Given the description of an element on the screen output the (x, y) to click on. 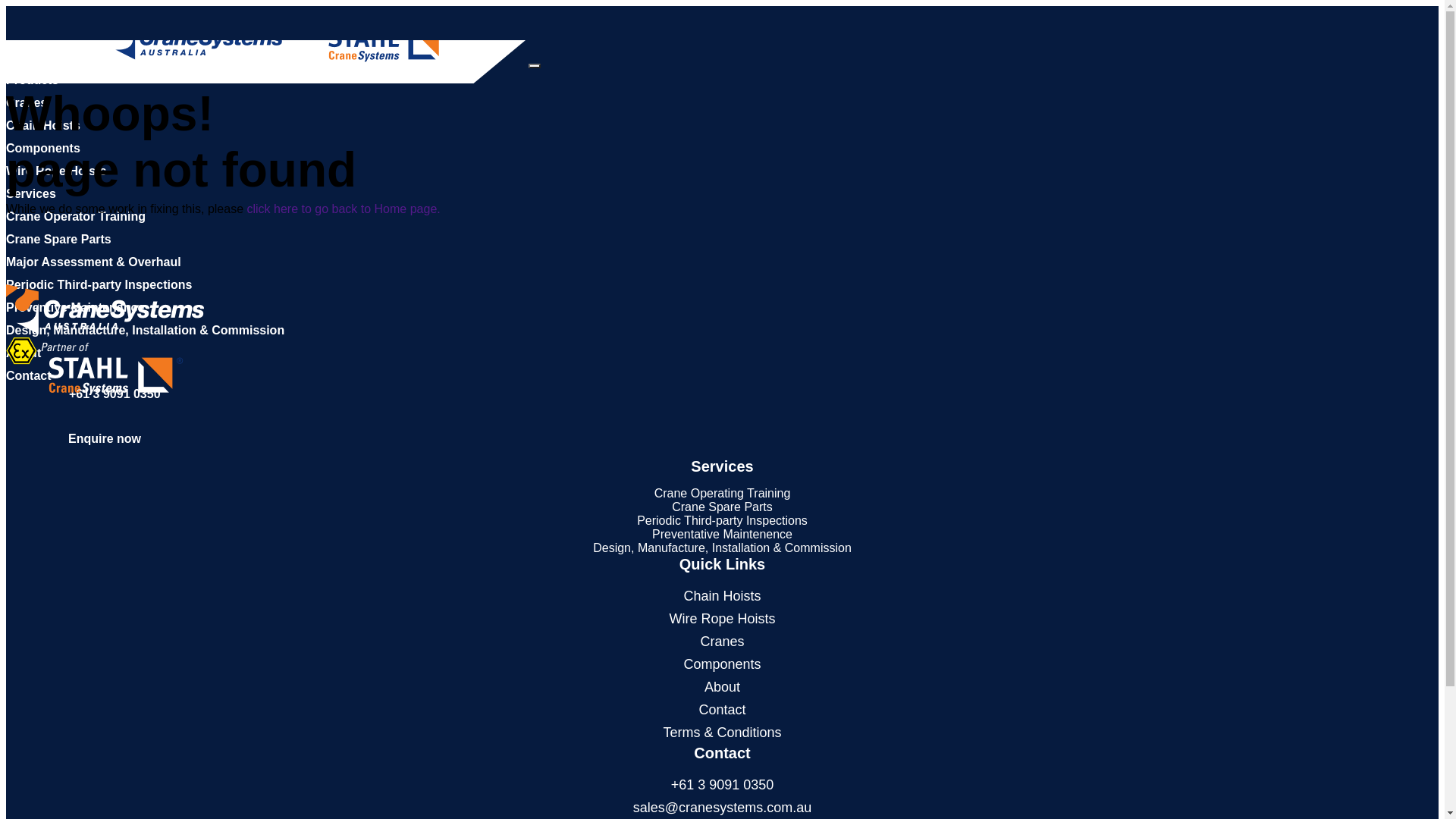
Services Element type: text (31, 193)
Crane Spare Parts Element type: text (58, 238)
Major Assessment & Overhaul Element type: text (93, 261)
Design, Manufacture, Installation & Commission Element type: text (145, 329)
Contact Element type: text (28, 375)
Terms & Conditions Element type: text (721, 732)
sales@cranesystems.com.au Element type: text (722, 807)
Contact Element type: text (721, 709)
Preventative Maintenence Element type: text (722, 533)
Components Element type: text (43, 147)
Preventive Maintenance Element type: text (75, 307)
Periodic Third-party Inspections Element type: text (98, 284)
Periodic Third-party Inspections Element type: text (722, 520)
+61 3 9091 0350 Element type: text (83, 393)
Design, Manufacture, Installation & Commission Element type: text (722, 547)
Wire Rope Hoists Element type: text (56, 170)
Cranes Element type: text (721, 641)
Cranes Element type: text (26, 102)
Crane Spare Parts Element type: text (721, 506)
Chain Hoists Element type: text (43, 125)
Crane Operator Training Element type: text (75, 216)
Chain Hoists Element type: text (721, 595)
Enquire now Element type: text (104, 438)
Components Element type: text (721, 663)
Wire Rope Hoists Element type: text (721, 618)
About Element type: text (23, 352)
+61 3 9091 0350 Element type: text (722, 784)
click here to go back to Home page. Element type: text (342, 208)
Crane Operating Training Element type: text (722, 492)
Products Element type: text (32, 79)
About Element type: text (722, 686)
